Given the description of an element on the screen output the (x, y) to click on. 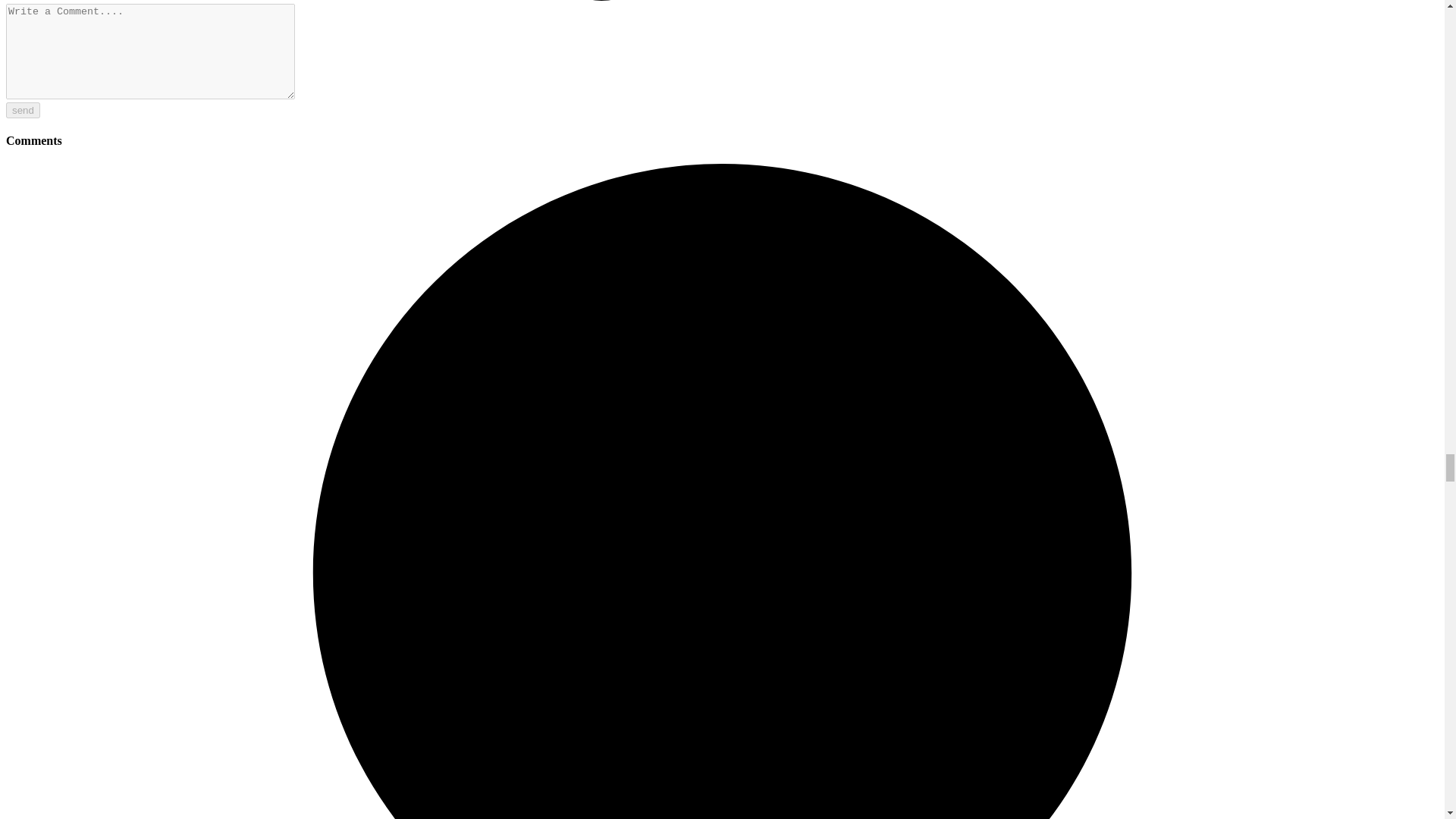
send (22, 109)
